Given the description of an element on the screen output the (x, y) to click on. 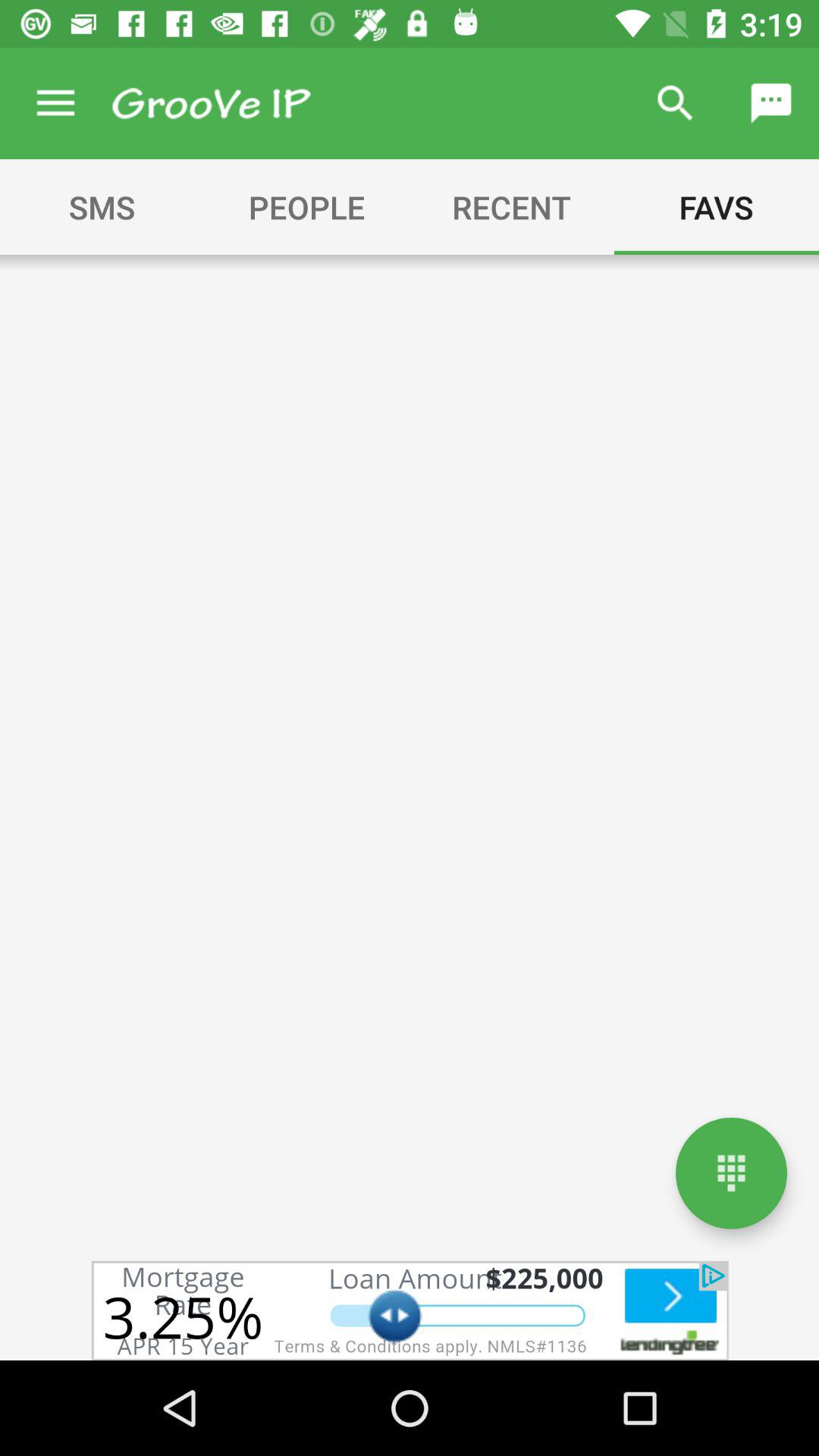
loan application (409, 1310)
